Given the description of an element on the screen output the (x, y) to click on. 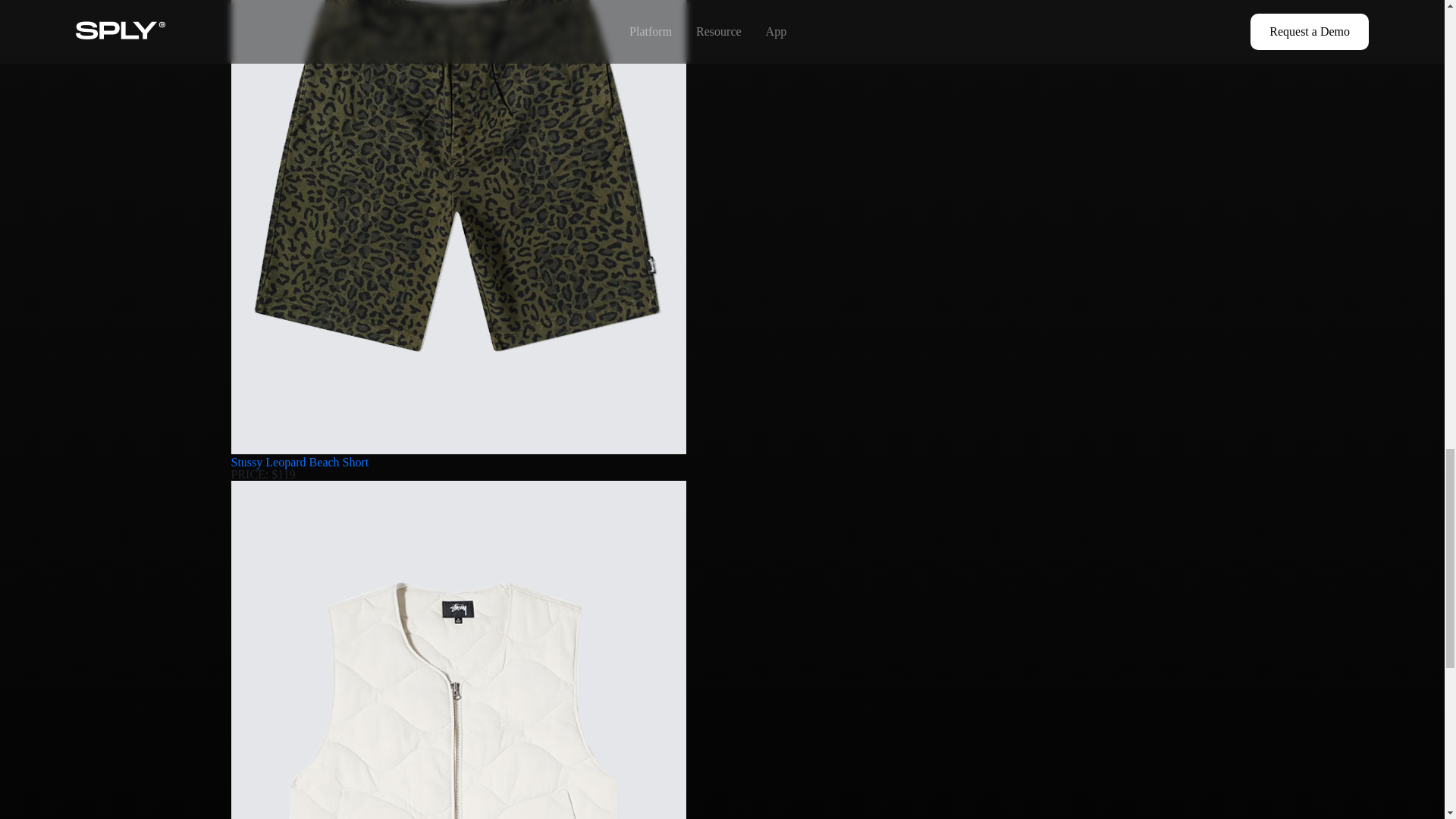
Stussy Leopard Beach Short (299, 461)
